Given the description of an element on the screen output the (x, y) to click on. 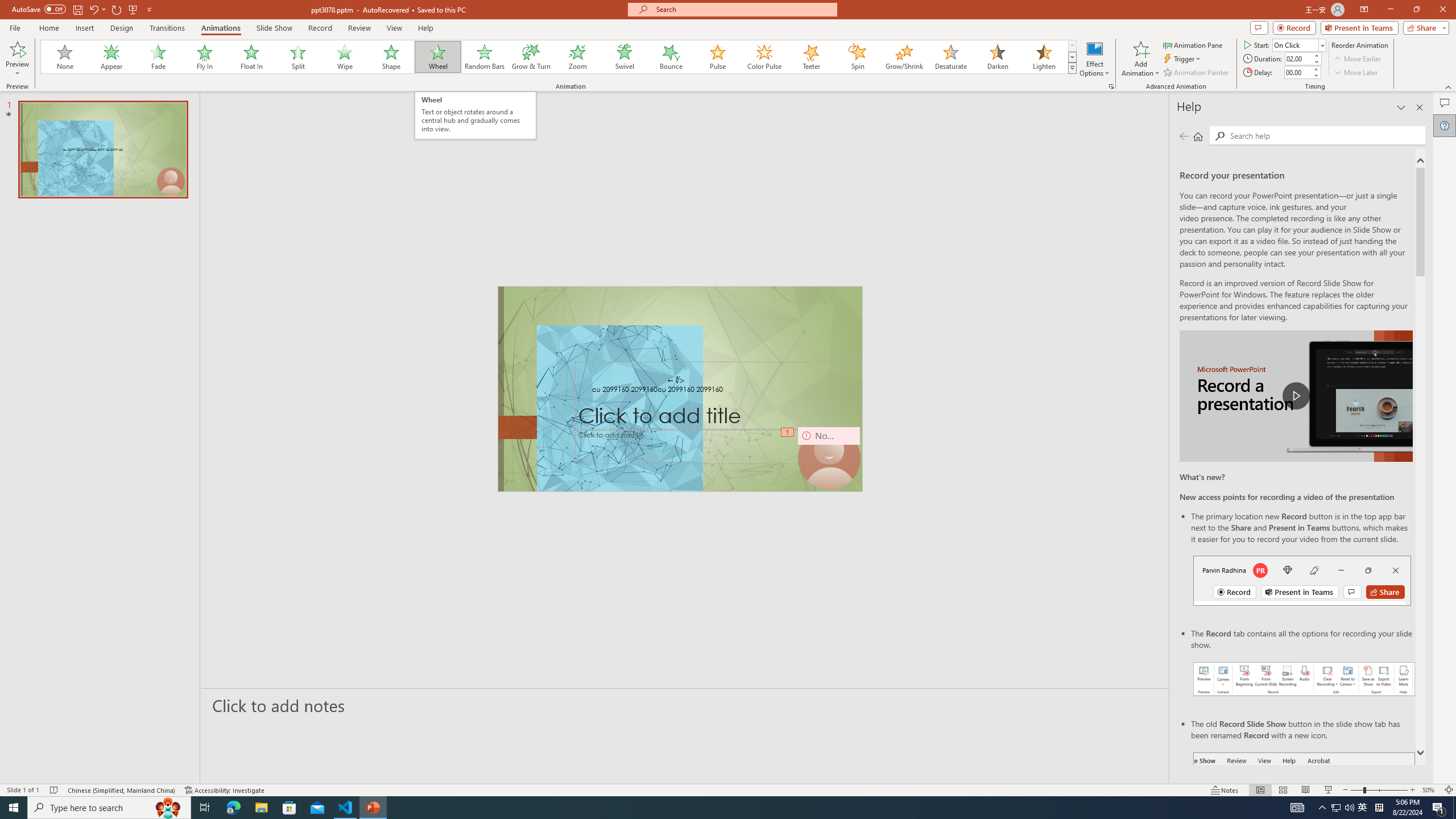
Fly In (205, 56)
Animation Duration (1298, 58)
Record button in top bar (1301, 580)
